Given the description of an element on the screen output the (x, y) to click on. 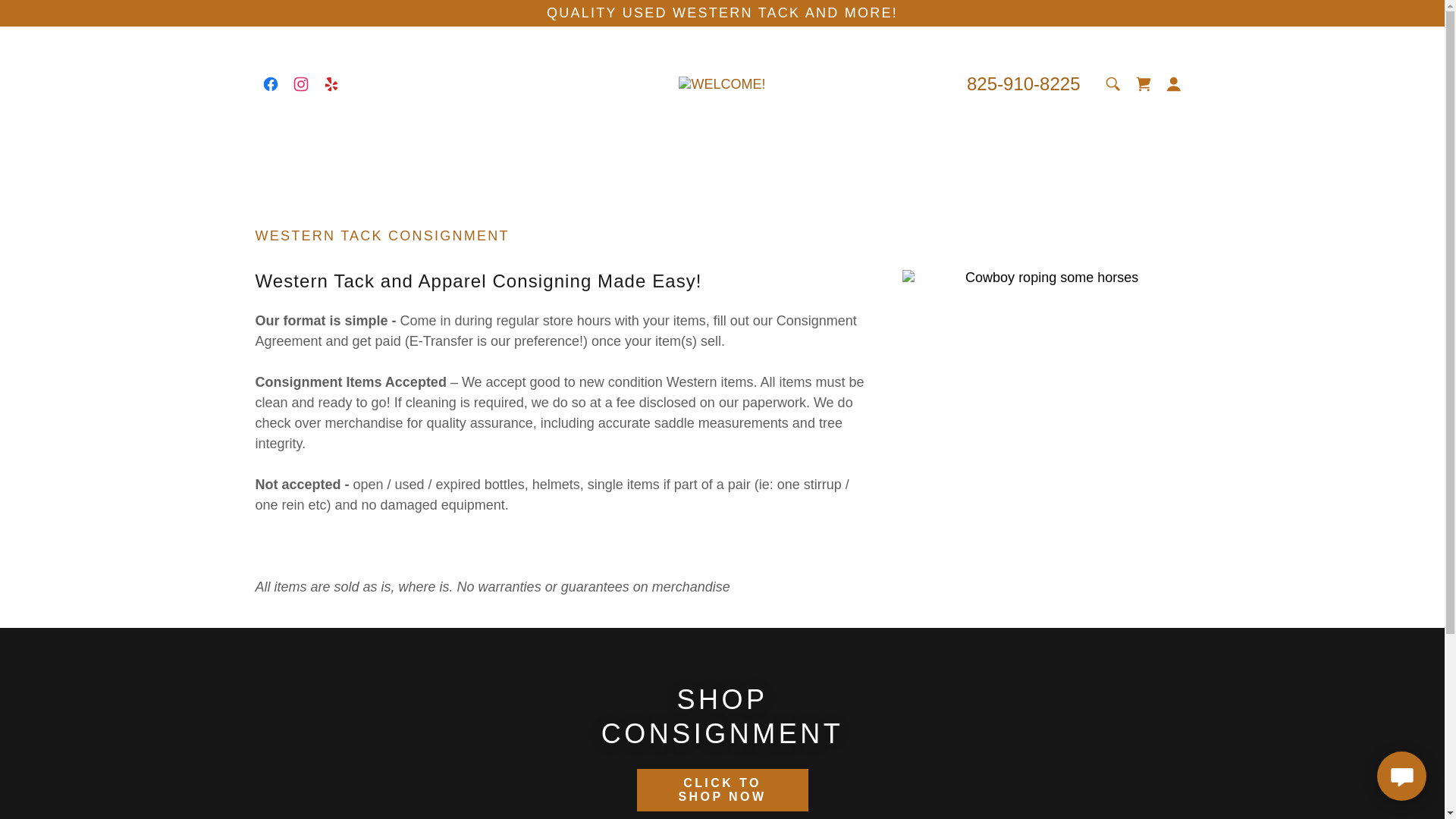
825-910-8225 (1023, 83)
WELCOME! (721, 83)
